Given the description of an element on the screen output the (x, y) to click on. 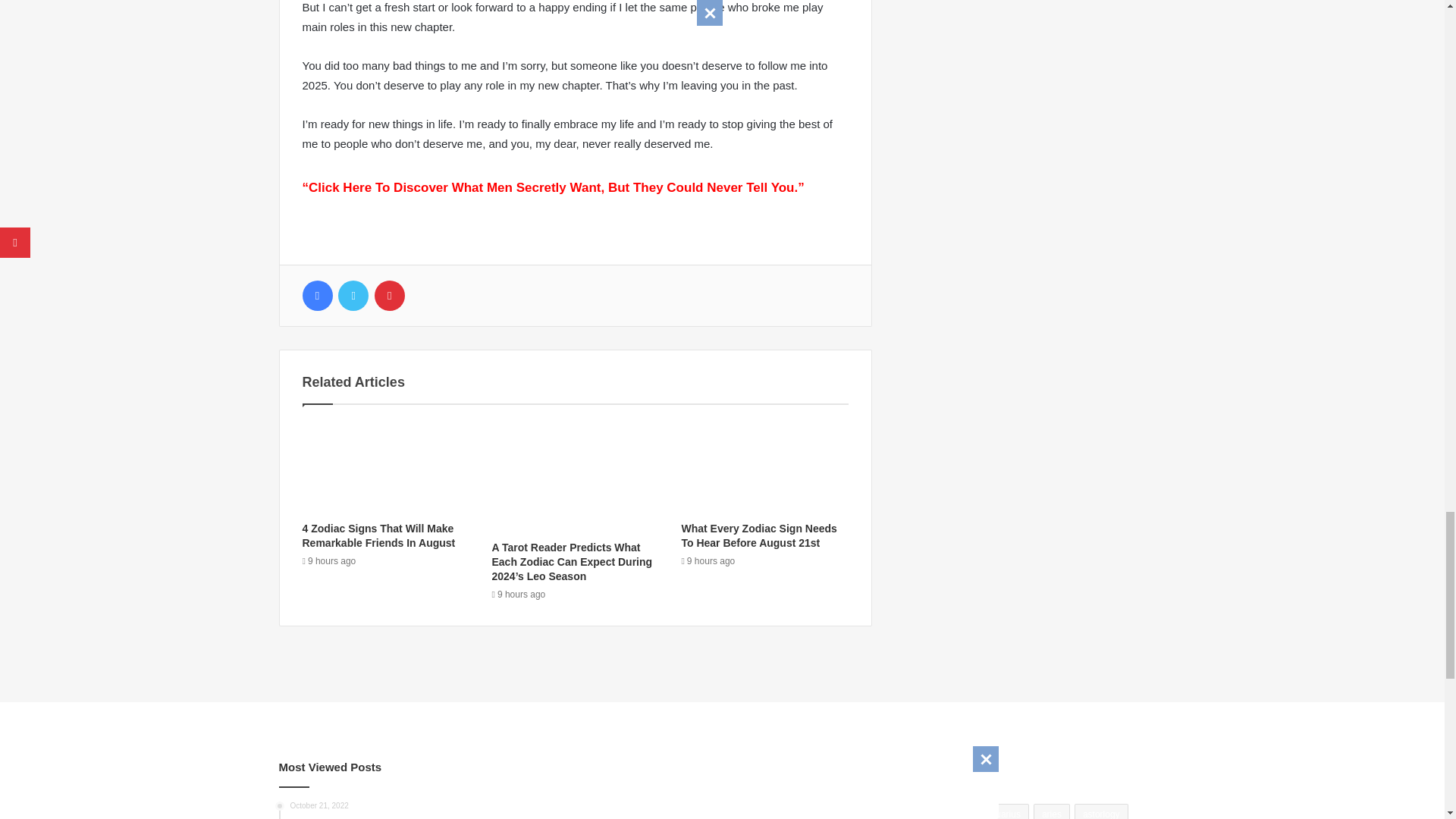
Twitter (352, 295)
4 Zodiac Signs That Will Make Remarkable Friends In August (377, 535)
Pinterest (389, 295)
Facebook (316, 295)
